Given the description of an element on the screen output the (x, y) to click on. 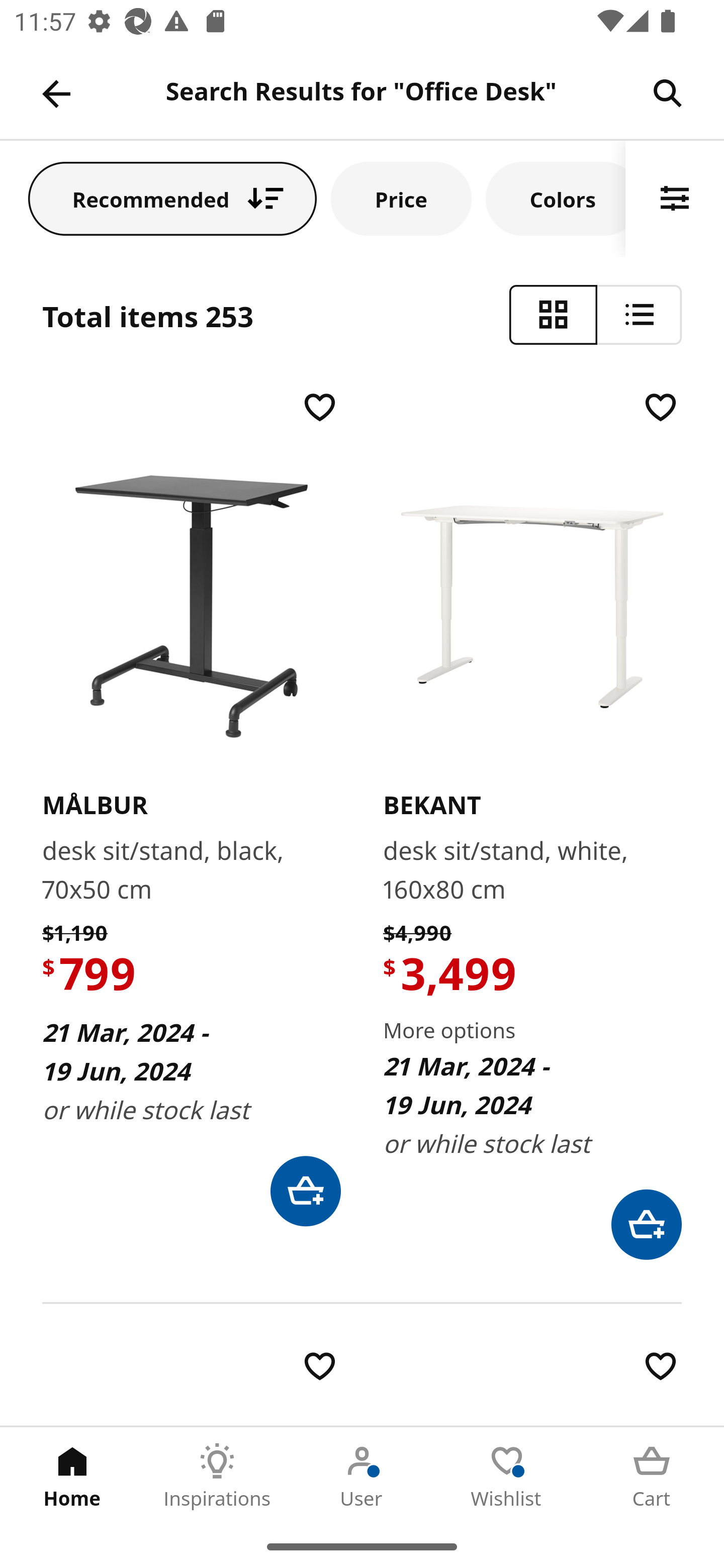
Recommended (172, 198)
Price (400, 198)
Colors (555, 198)
Home
Tab 1 of 5 (72, 1476)
Inspirations
Tab 2 of 5 (216, 1476)
User
Tab 3 of 5 (361, 1476)
Wishlist
Tab 4 of 5 (506, 1476)
Cart
Tab 5 of 5 (651, 1476)
